Given the description of an element on the screen output the (x, y) to click on. 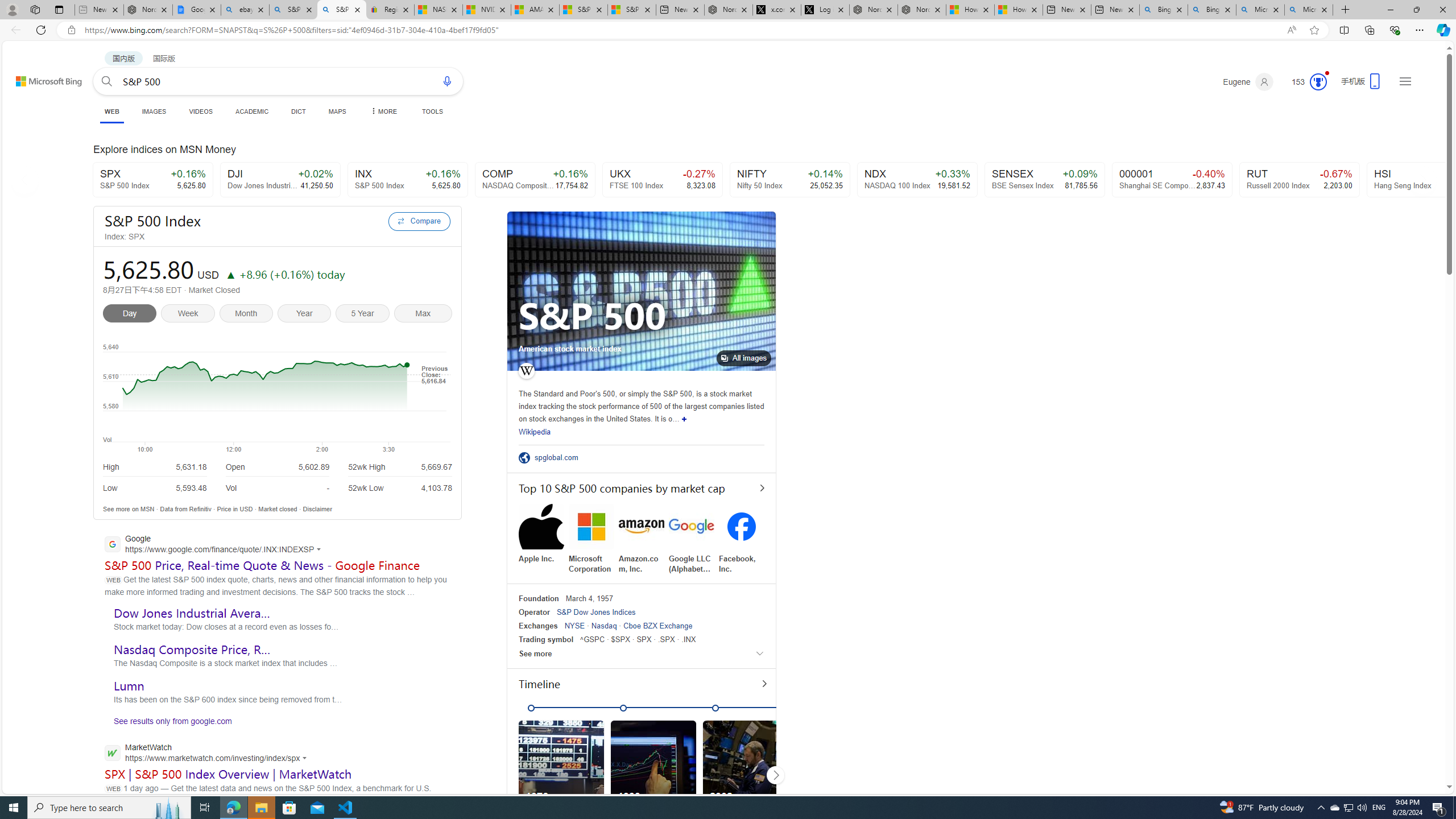
Show more (684, 418)
Dropdown Menu (382, 111)
All images (743, 358)
Register: Create a personal eBay account (390, 9)
Foundation (538, 598)
Google (215, 545)
SENSEX +0.09% BSE Sensex Index 81,785.56 (1045, 179)
Microsoft Corporation (591, 538)
Google Docs: Online Document Editor | Google Workspace (196, 9)
Wikipedia (534, 431)
Year (306, 314)
